Given the description of an element on the screen output the (x, y) to click on. 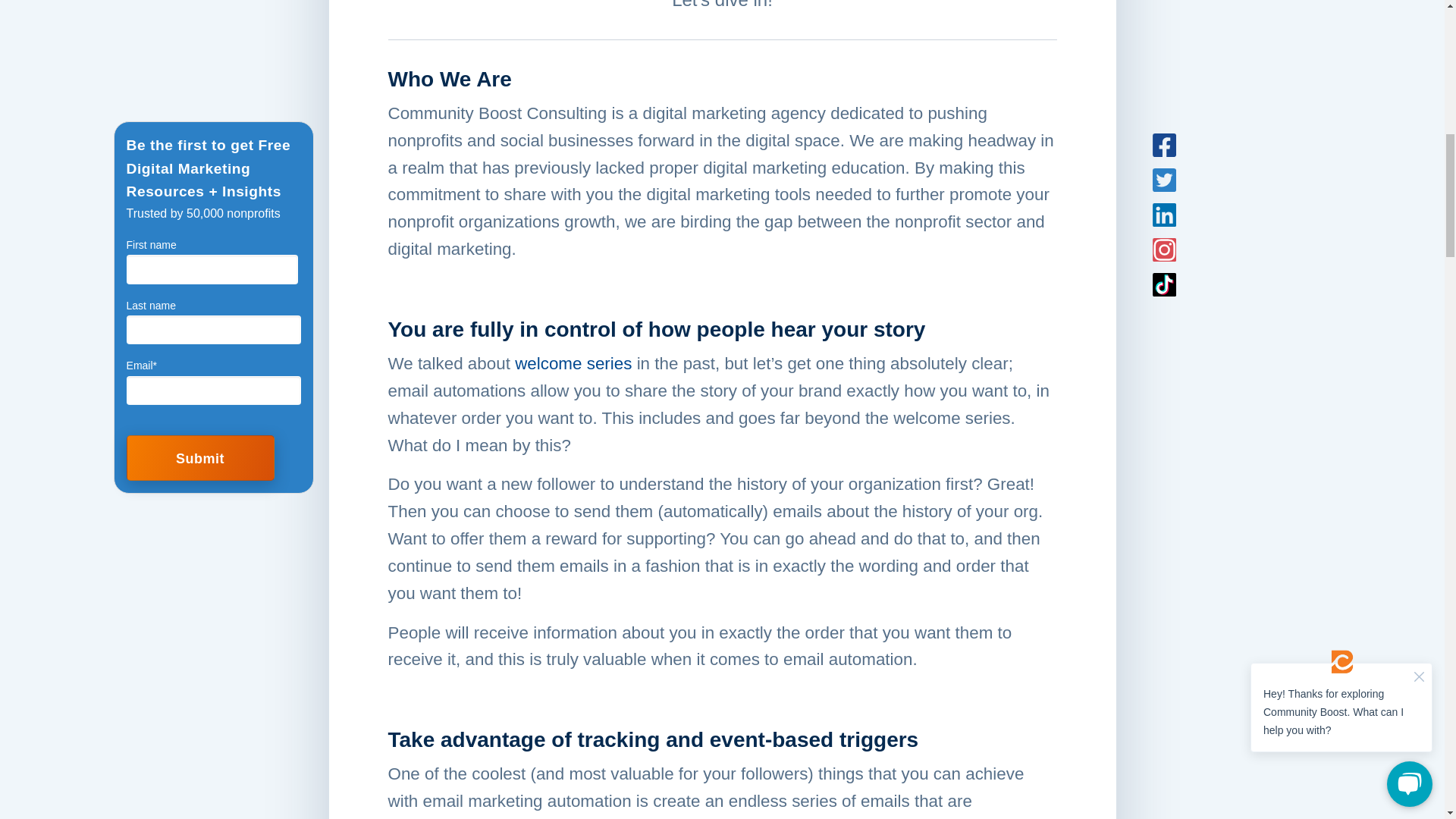
Submit (200, 102)
